Given the description of an element on the screen output the (x, y) to click on. 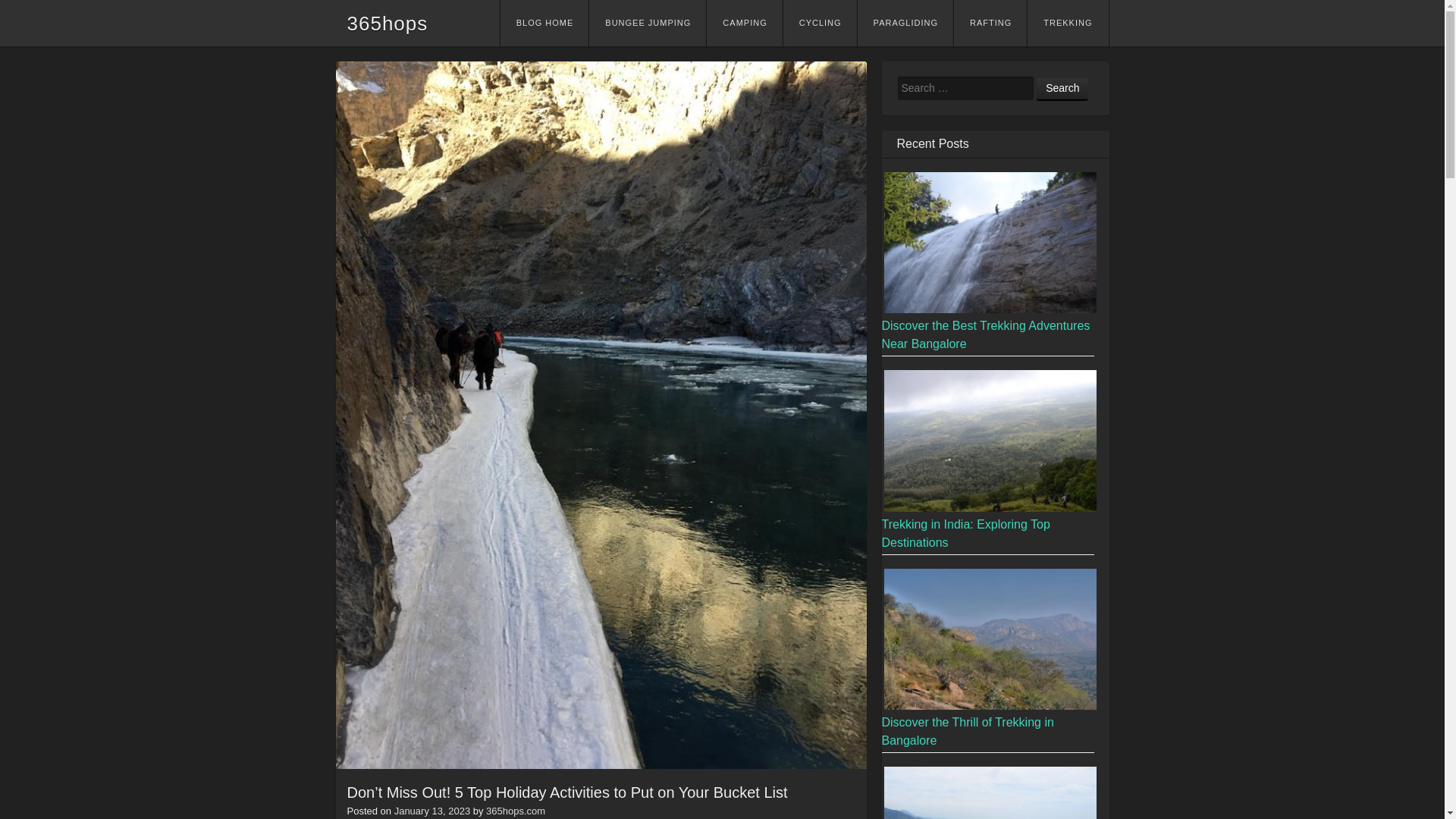
Permalink to Trekking in India: Exploring Top Destinations (964, 532)
PARAGLIDING (905, 22)
BLOG HOME (544, 22)
Permalink to Discover the Thrill of Trekking in Bangalore (966, 730)
TREKKING (1067, 22)
365hops (387, 23)
Discover the Best Trekking Adventures Near Bangalore (984, 334)
January 13, 2023 (432, 810)
365hops (387, 23)
